Given the description of an element on the screen output the (x, y) to click on. 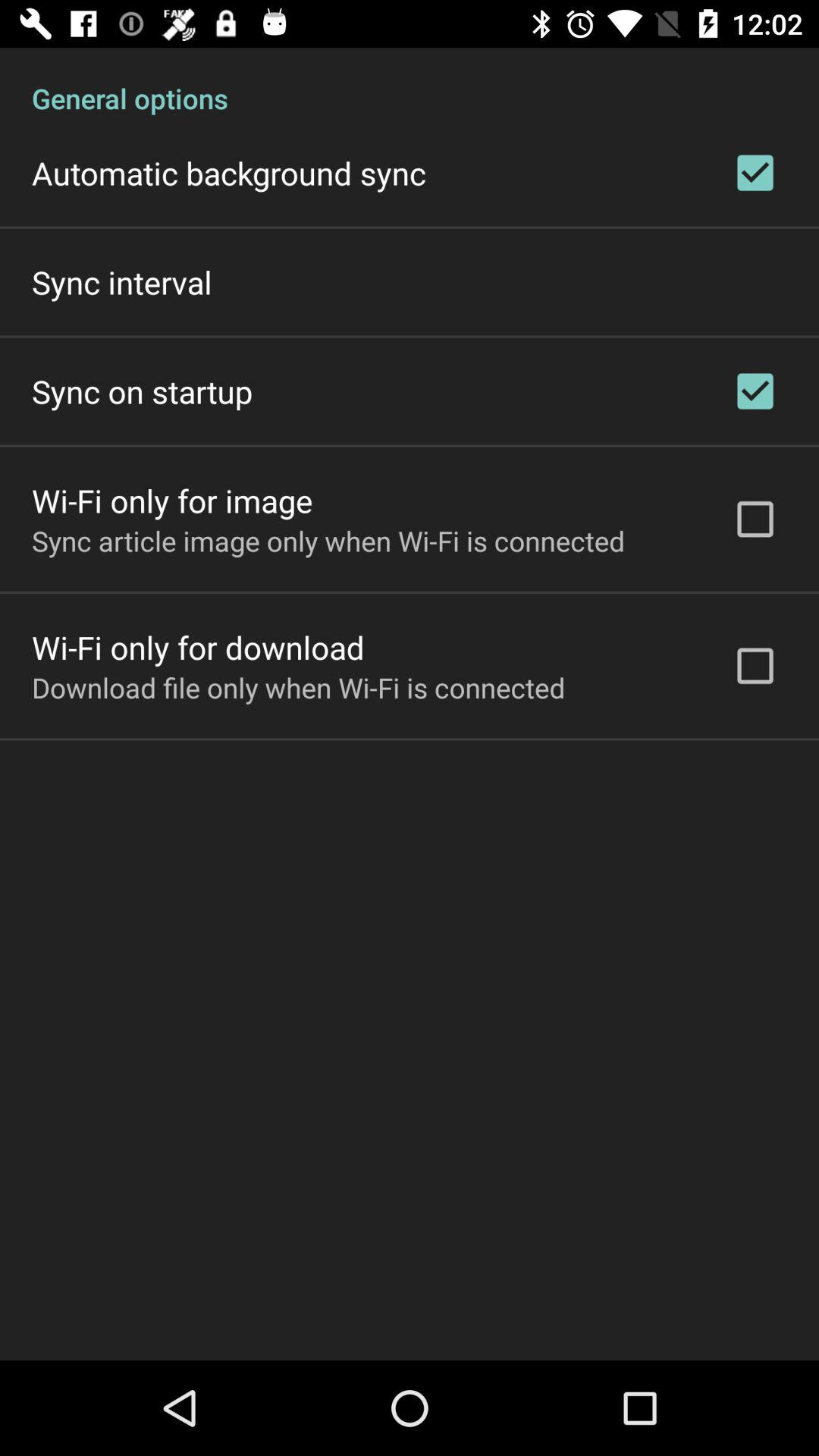
tap sync interval (121, 281)
